Given the description of an element on the screen output the (x, y) to click on. 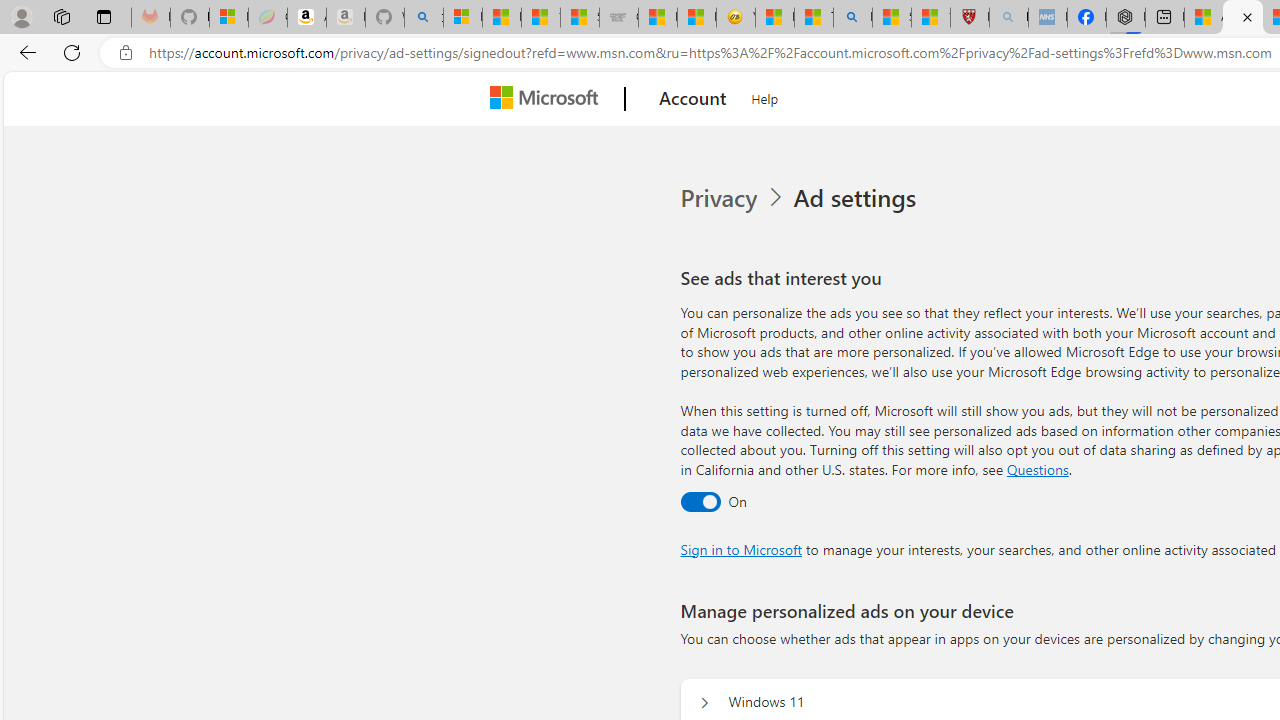
Privacy (734, 197)
Account (692, 99)
Back (24, 52)
Recipes - MSN (774, 17)
Stocks - MSN (579, 17)
Microsoft account | Privacy (1242, 17)
Help (765, 96)
Help (765, 96)
